Given the description of an element on the screen output the (x, y) to click on. 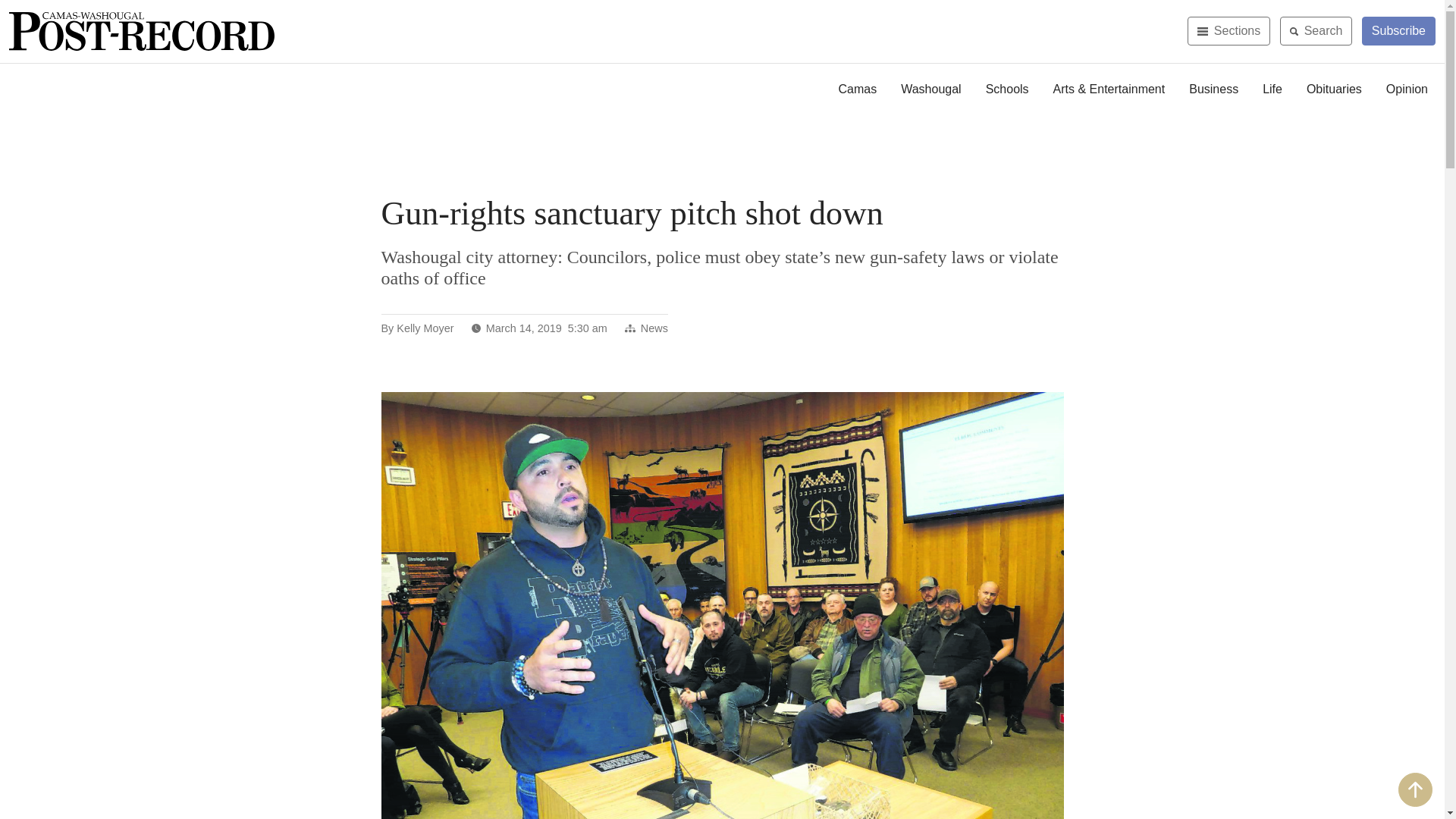
Search (1315, 30)
Opinion (1406, 88)
Sections (1228, 30)
Subscribe (1398, 30)
Obituaries (1334, 88)
Camas (858, 88)
Schools (1007, 88)
Washougal (930, 88)
Business (1213, 88)
Kelly Moyer (424, 328)
News (654, 328)
Life (1272, 88)
